Given the description of an element on the screen output the (x, y) to click on. 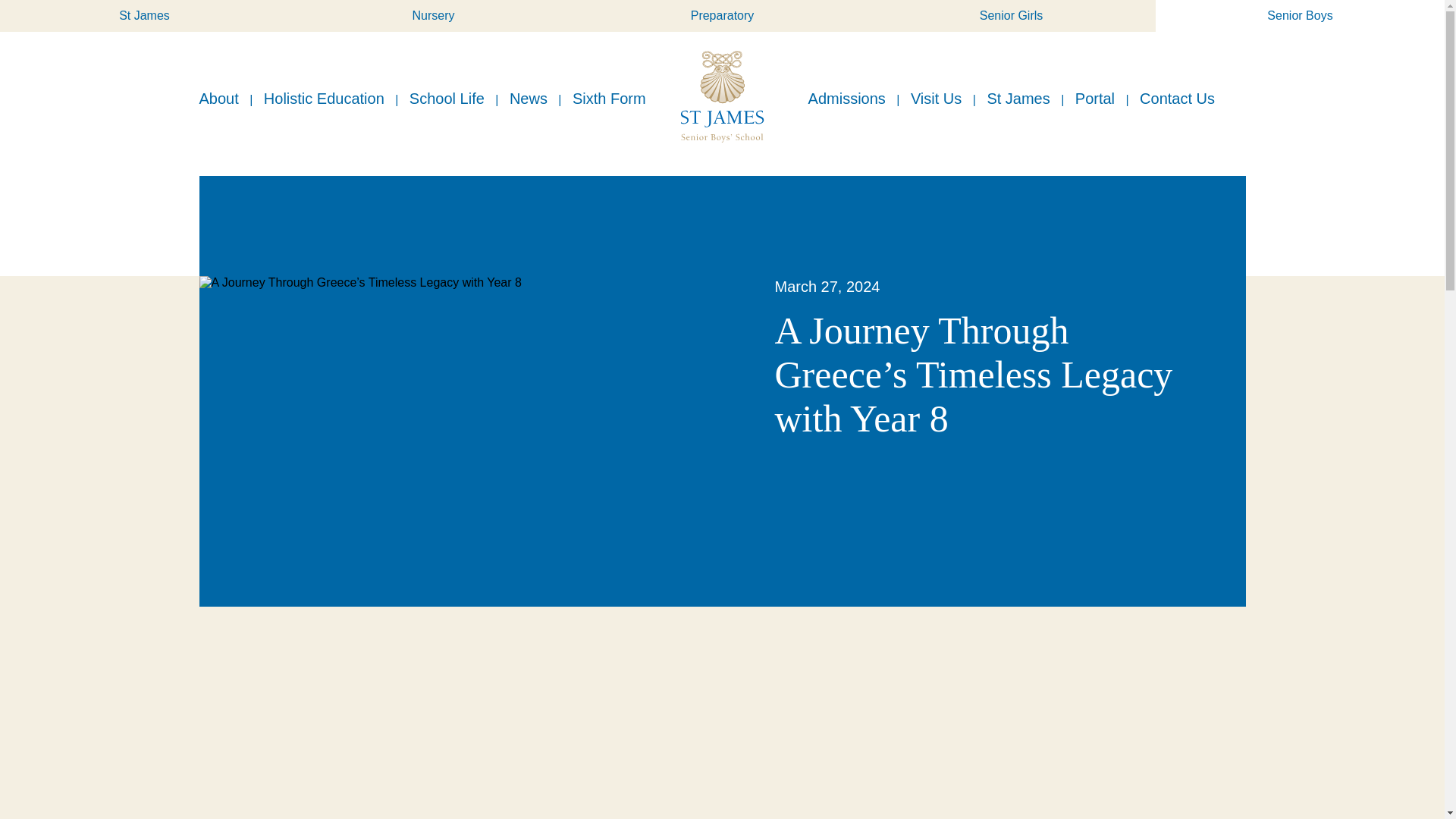
Senior Girls (1011, 15)
School Life (446, 97)
Nursery (433, 15)
St James (144, 15)
Preparatory (722, 15)
Holistic Education (323, 97)
Holistic Education (323, 97)
About (218, 97)
Sixth Form (609, 97)
News (528, 97)
